Given the description of an element on the screen output the (x, y) to click on. 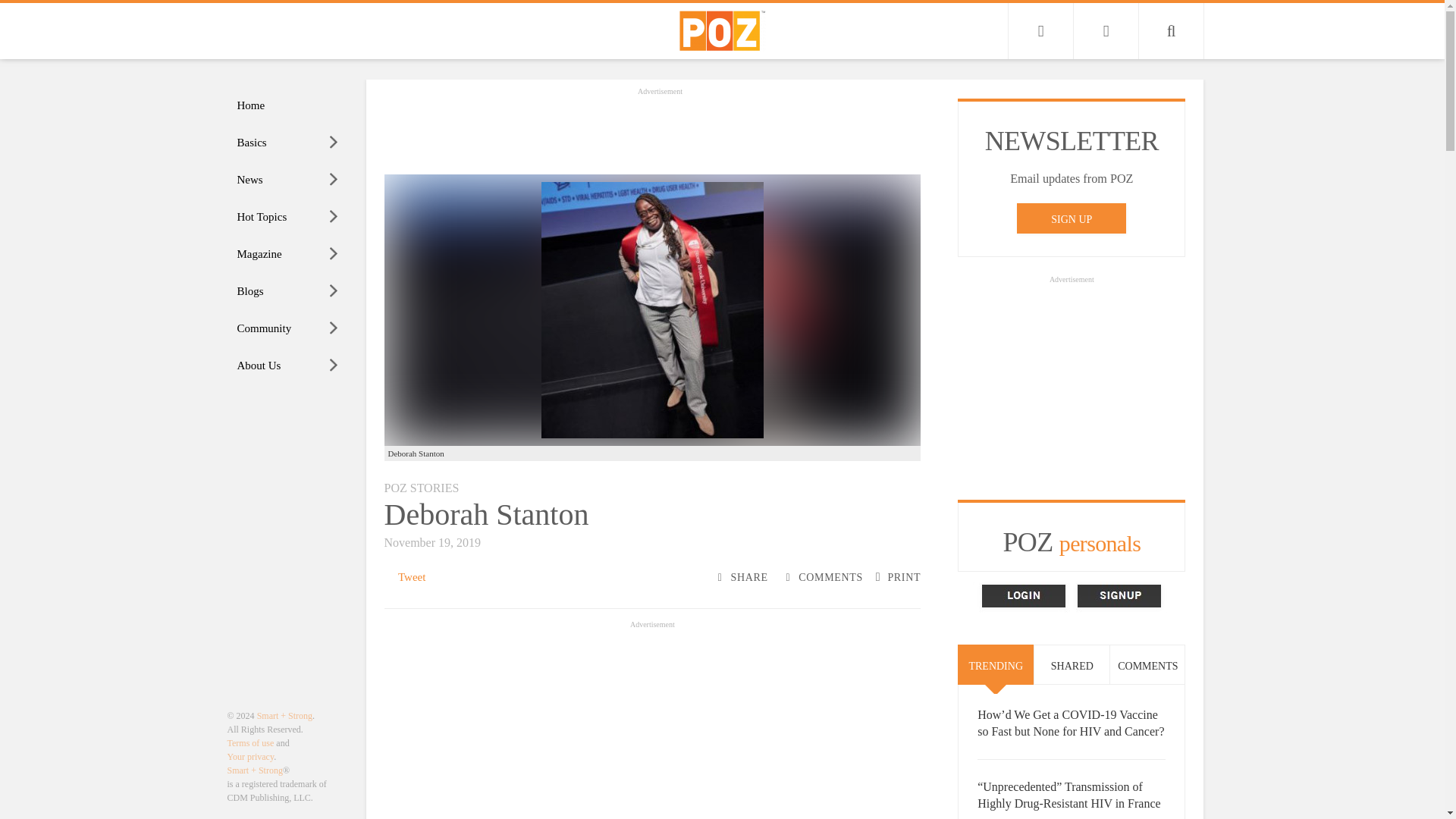
3rd party ad content (651, 725)
Home (288, 105)
News (288, 180)
Basics (288, 142)
3rd party ad content (660, 132)
3rd party ad content (1071, 381)
